Given the description of an element on the screen output the (x, y) to click on. 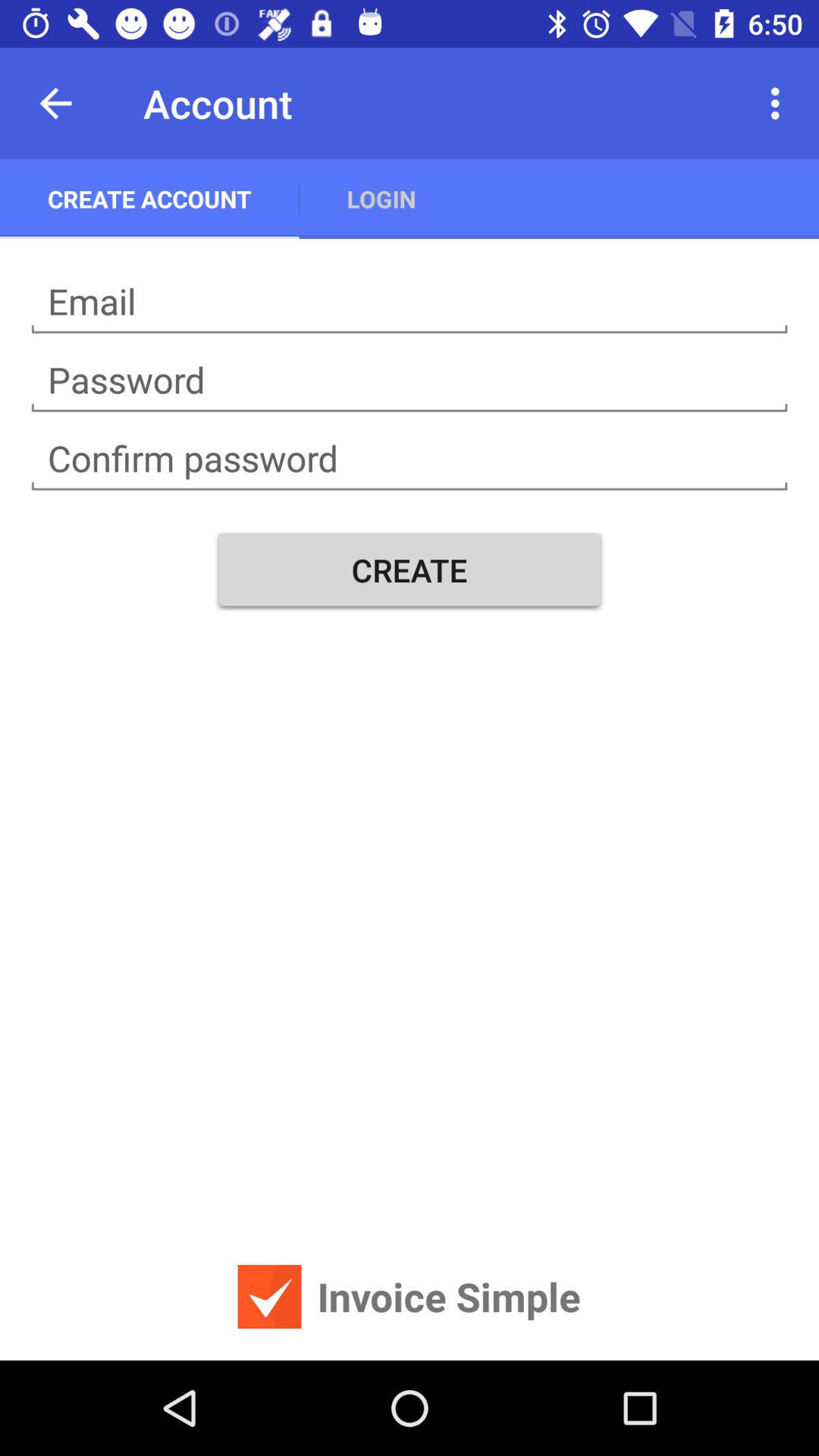
turn off app to the left of login app (149, 198)
